Given the description of an element on the screen output the (x, y) to click on. 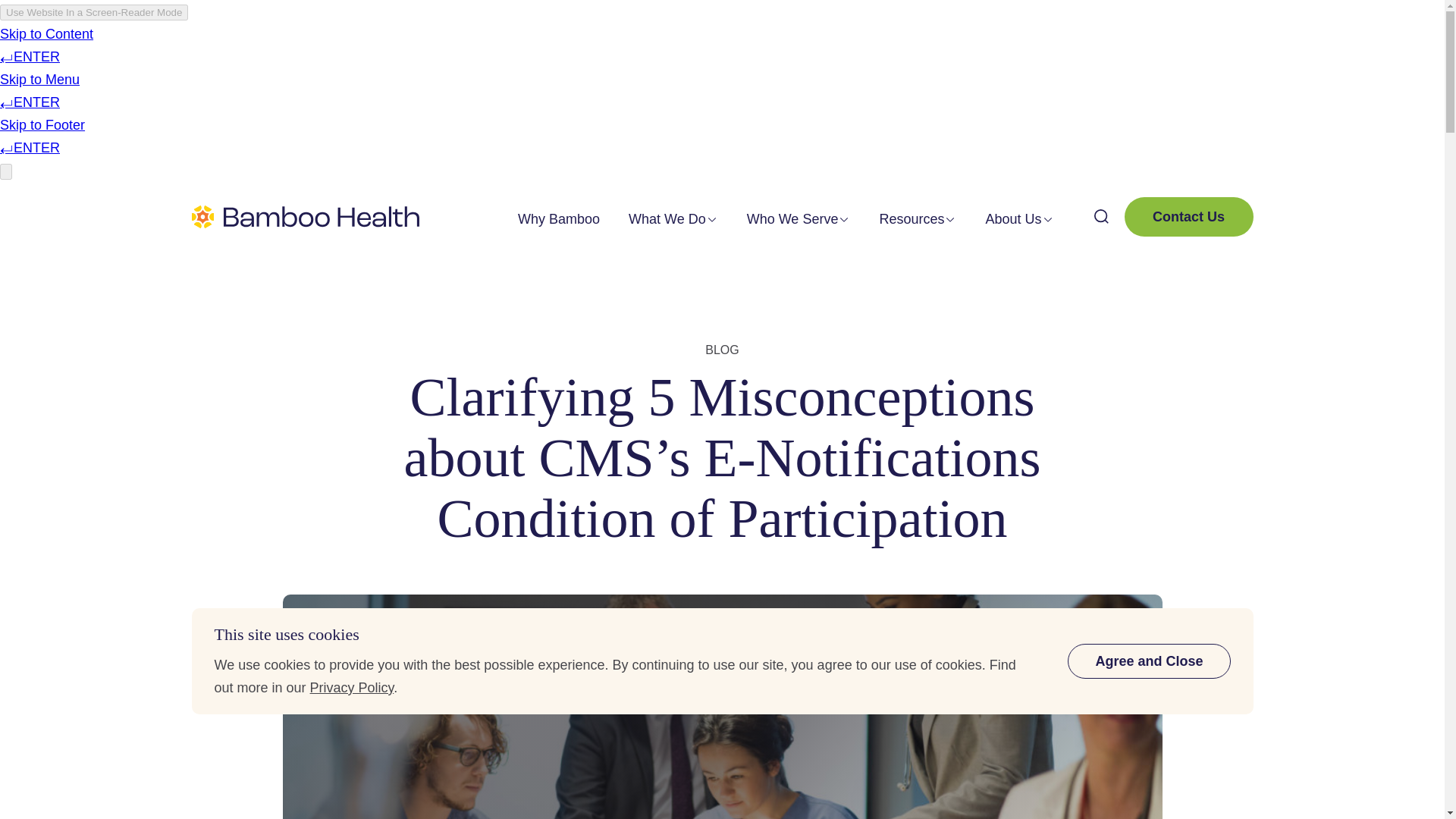
Why Bamboo (558, 219)
Agree and Close (1148, 660)
Resources (911, 219)
Who We Serve (792, 219)
Privacy Policy (352, 687)
What We Do (667, 219)
